Given the description of an element on the screen output the (x, y) to click on. 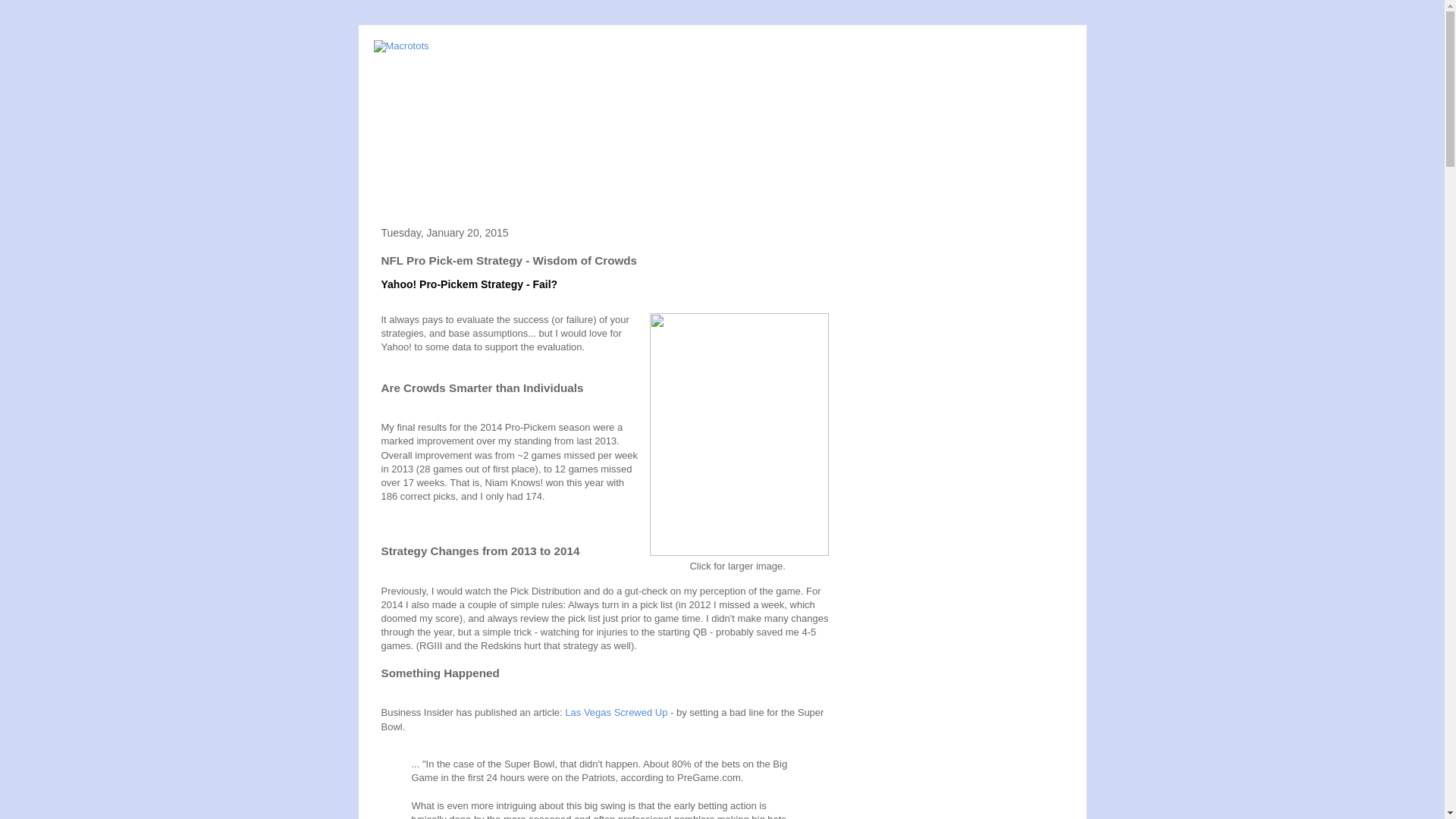
Las Vegas Screwed Up (615, 712)
